Given the description of an element on the screen output the (x, y) to click on. 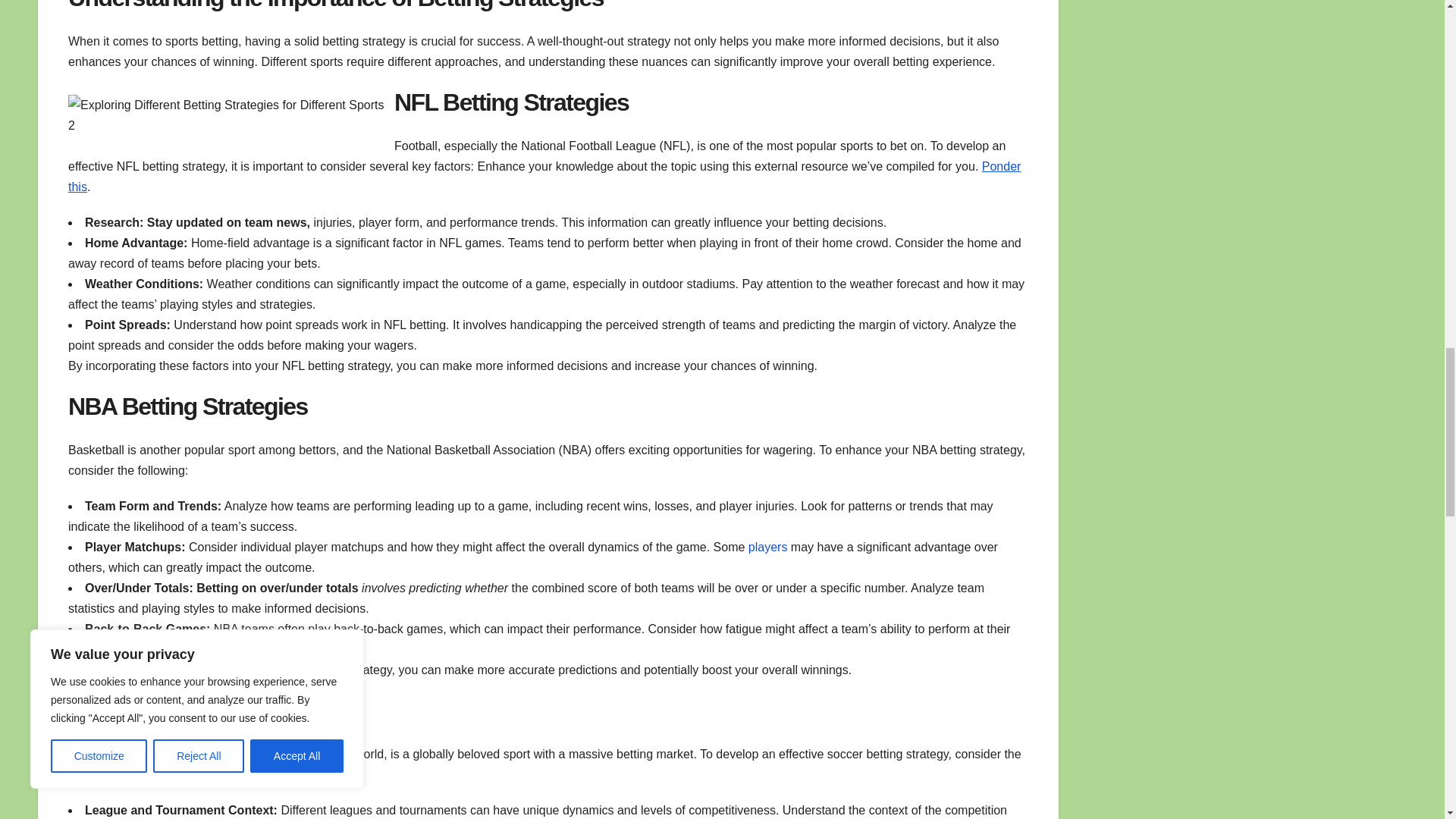
Ponder this (544, 176)
players (767, 546)
